Given the description of an element on the screen output the (x, y) to click on. 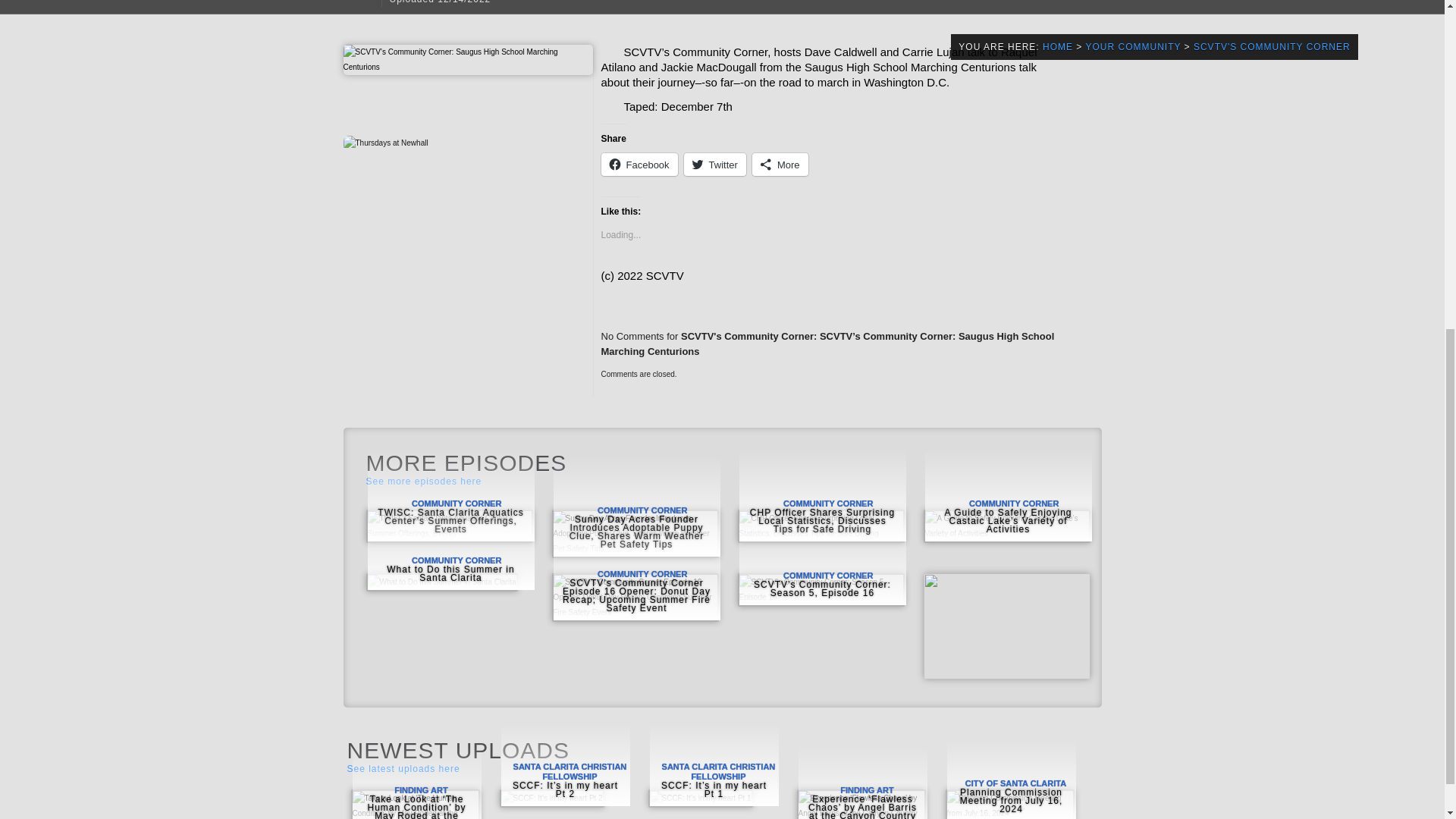
Thursdays at Newhall (385, 142)
Click to share on Twitter (714, 164)
Click to share on Facebook (638, 164)
